Given the description of an element on the screen output the (x, y) to click on. 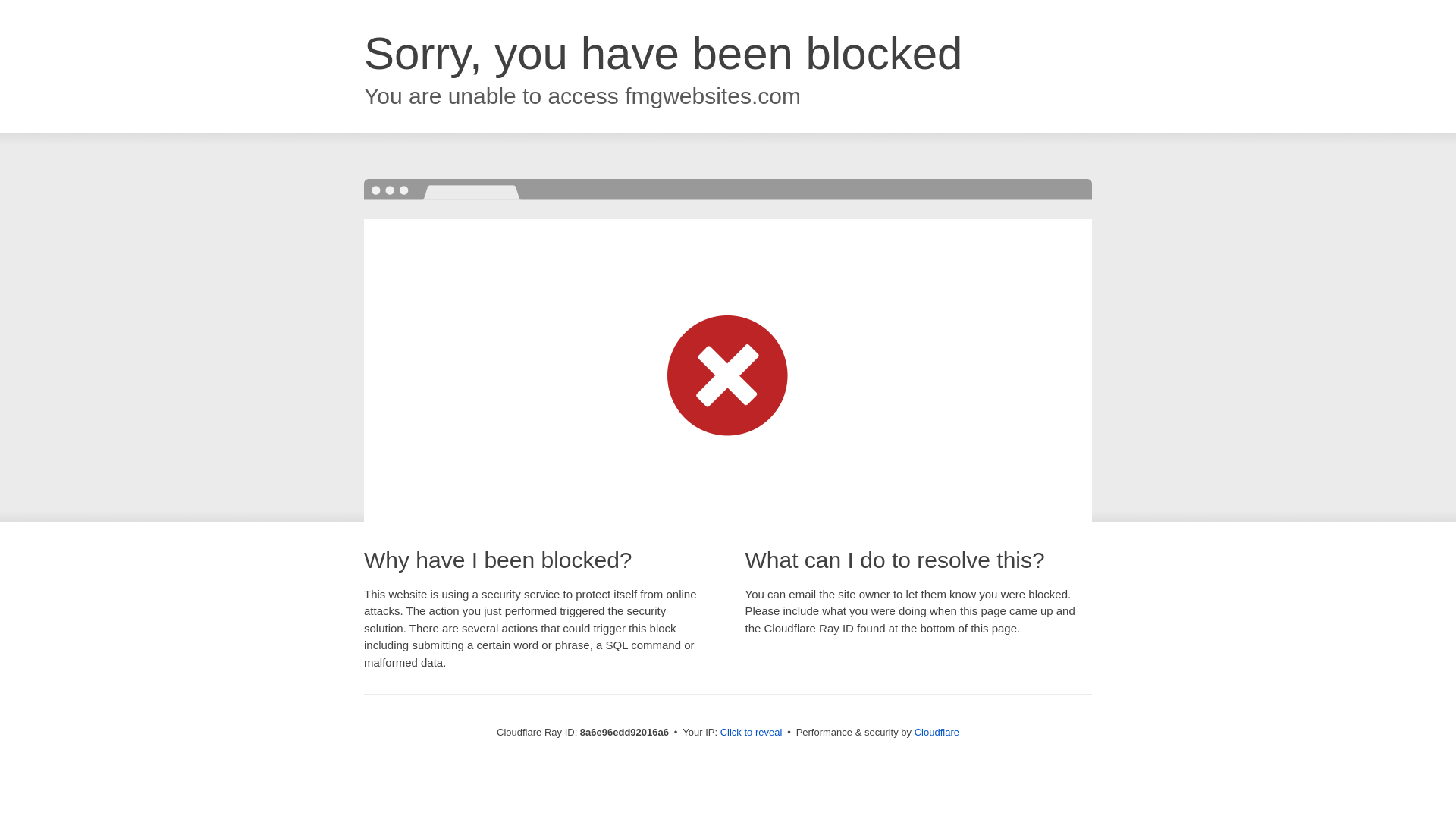
Cloudflare (936, 731)
Click to reveal (751, 732)
